Given the description of an element on the screen output the (x, y) to click on. 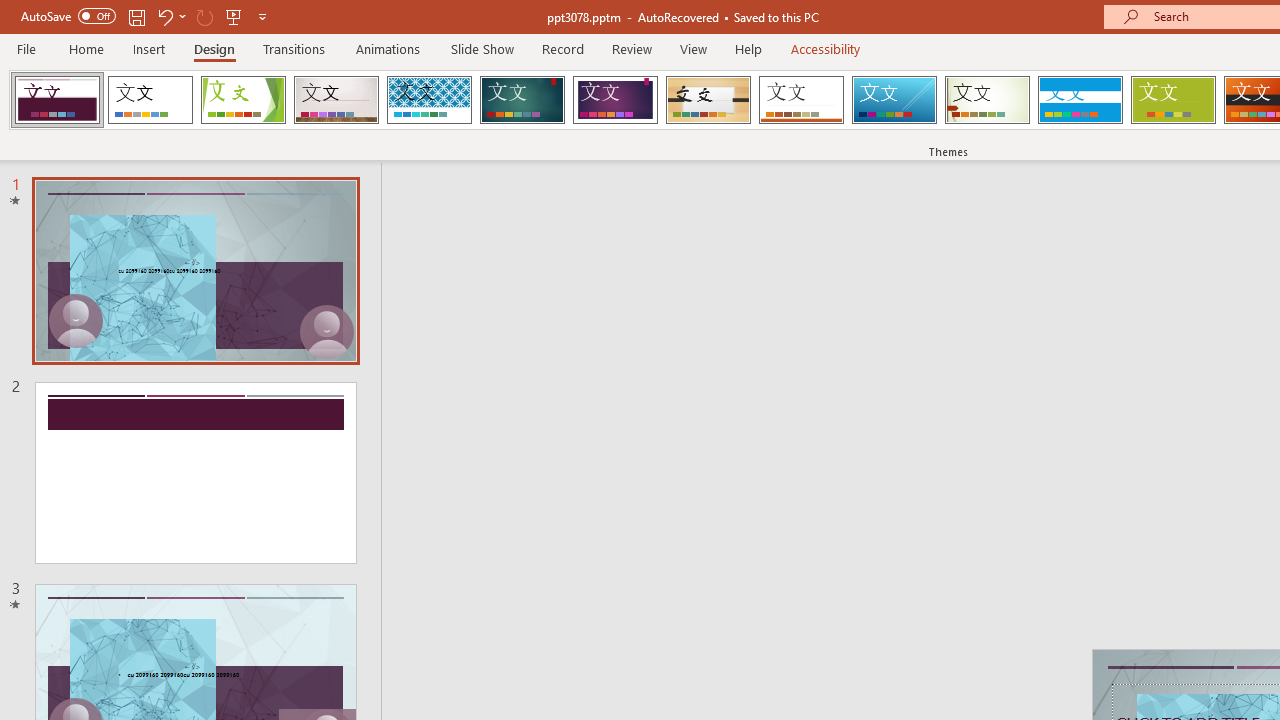
Slice (893, 100)
Banded (1080, 100)
Facet (243, 100)
Ion Boardroom (615, 100)
